Given the description of an element on the screen output the (x, y) to click on. 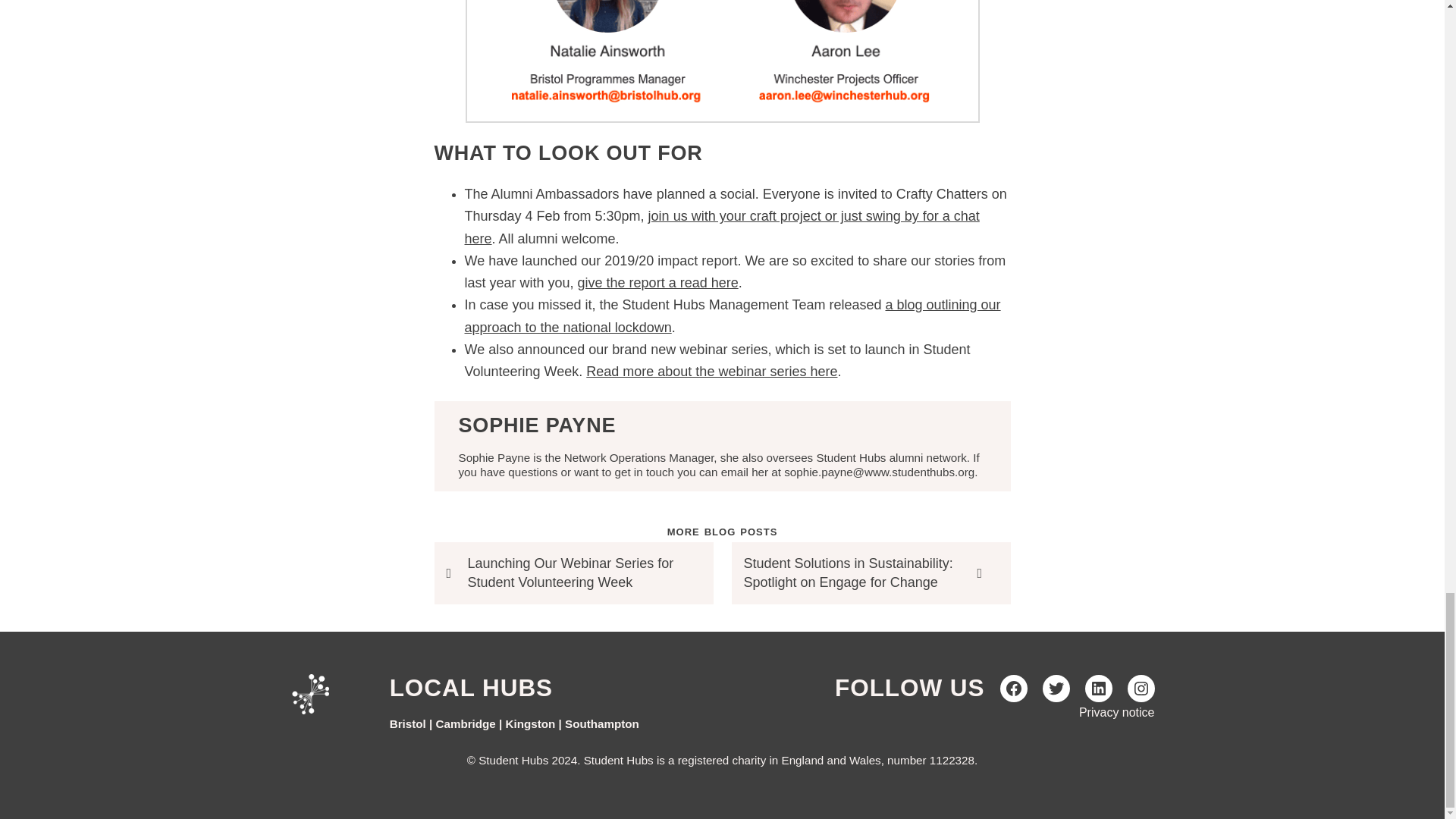
a blog outlining our approach to the national lockdown (732, 315)
Read more about the webinar series here (711, 371)
give the report a read here (658, 282)
Bristol (408, 723)
